Given the description of an element on the screen output the (x, y) to click on. 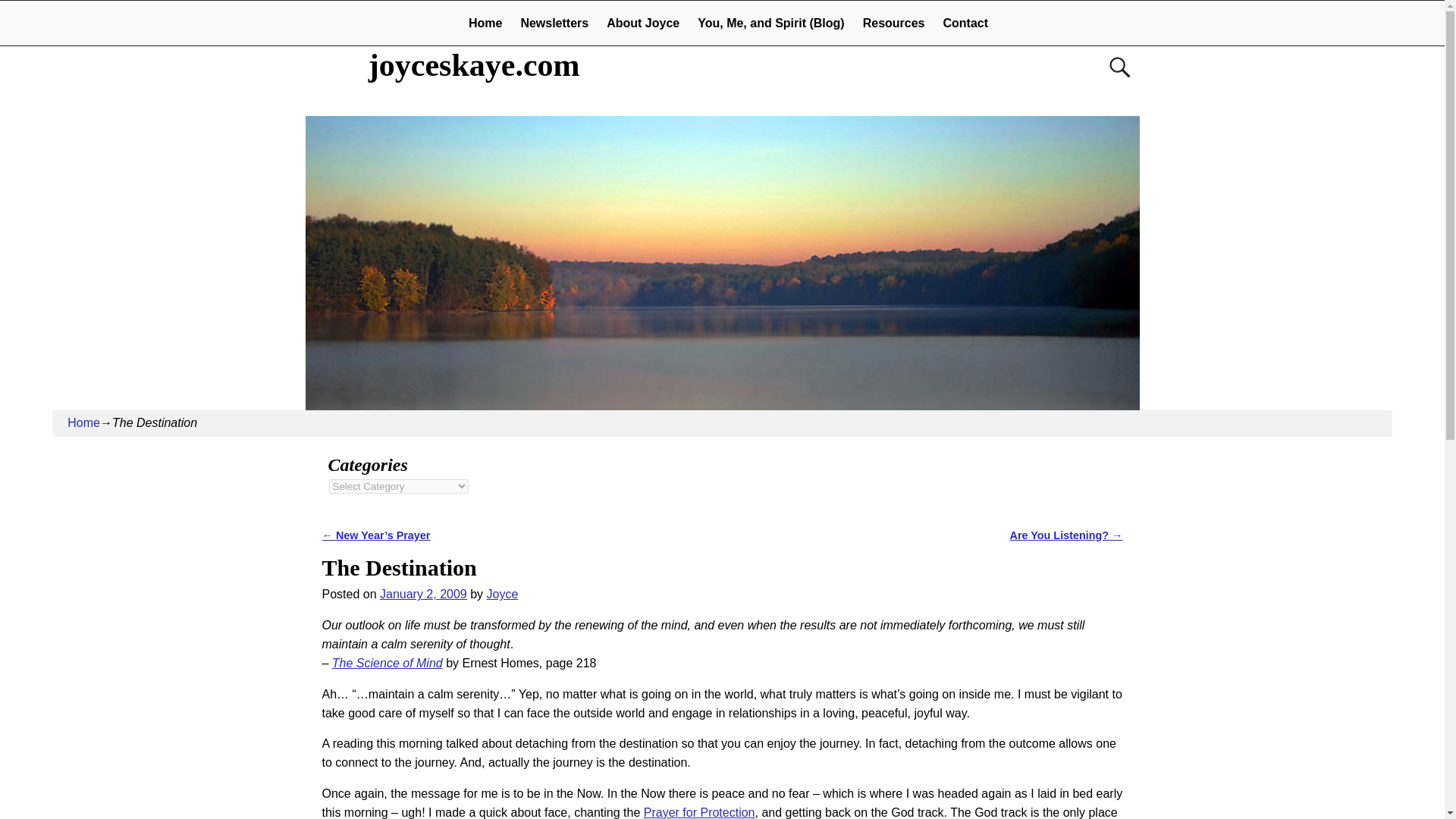
Contact (965, 22)
Home (83, 422)
The Science of Mind (386, 662)
View all posts by Joyce (502, 594)
Prayer for Protection (699, 812)
Resources (893, 22)
Home (485, 22)
joyceskaye.com (474, 64)
January 2, 2009 (423, 594)
joyceskaye.com (474, 64)
